Given the description of an element on the screen output the (x, y) to click on. 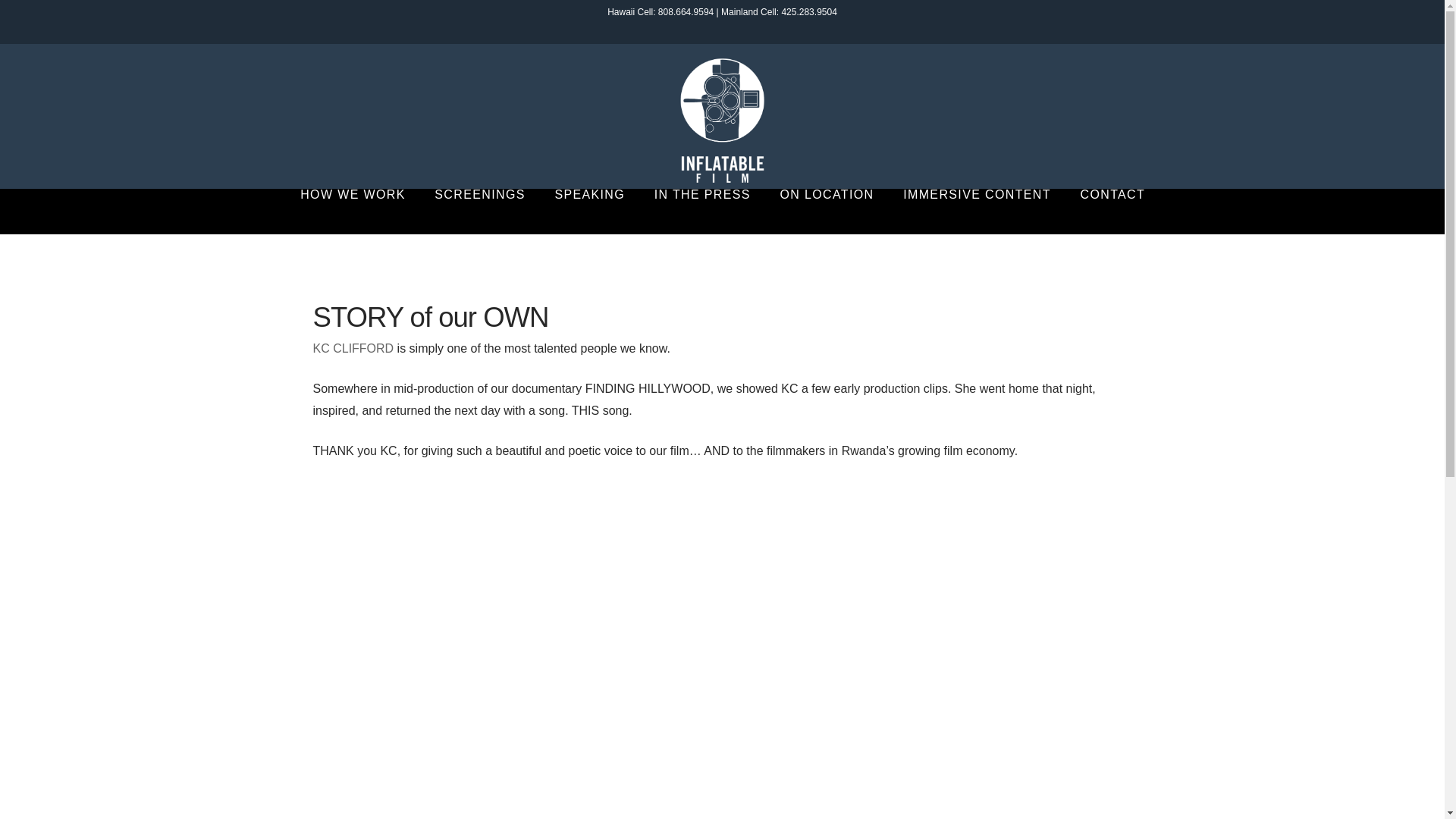
IN THE PRESS (702, 211)
IMMERSIVE CONTENT (976, 211)
SCREENINGS (478, 211)
CONTACT (1111, 211)
HOW WE WORK (352, 211)
ON LOCATION (826, 211)
KC CLIFFORD (353, 348)
SPEAKING (588, 211)
